Given the description of an element on the screen output the (x, y) to click on. 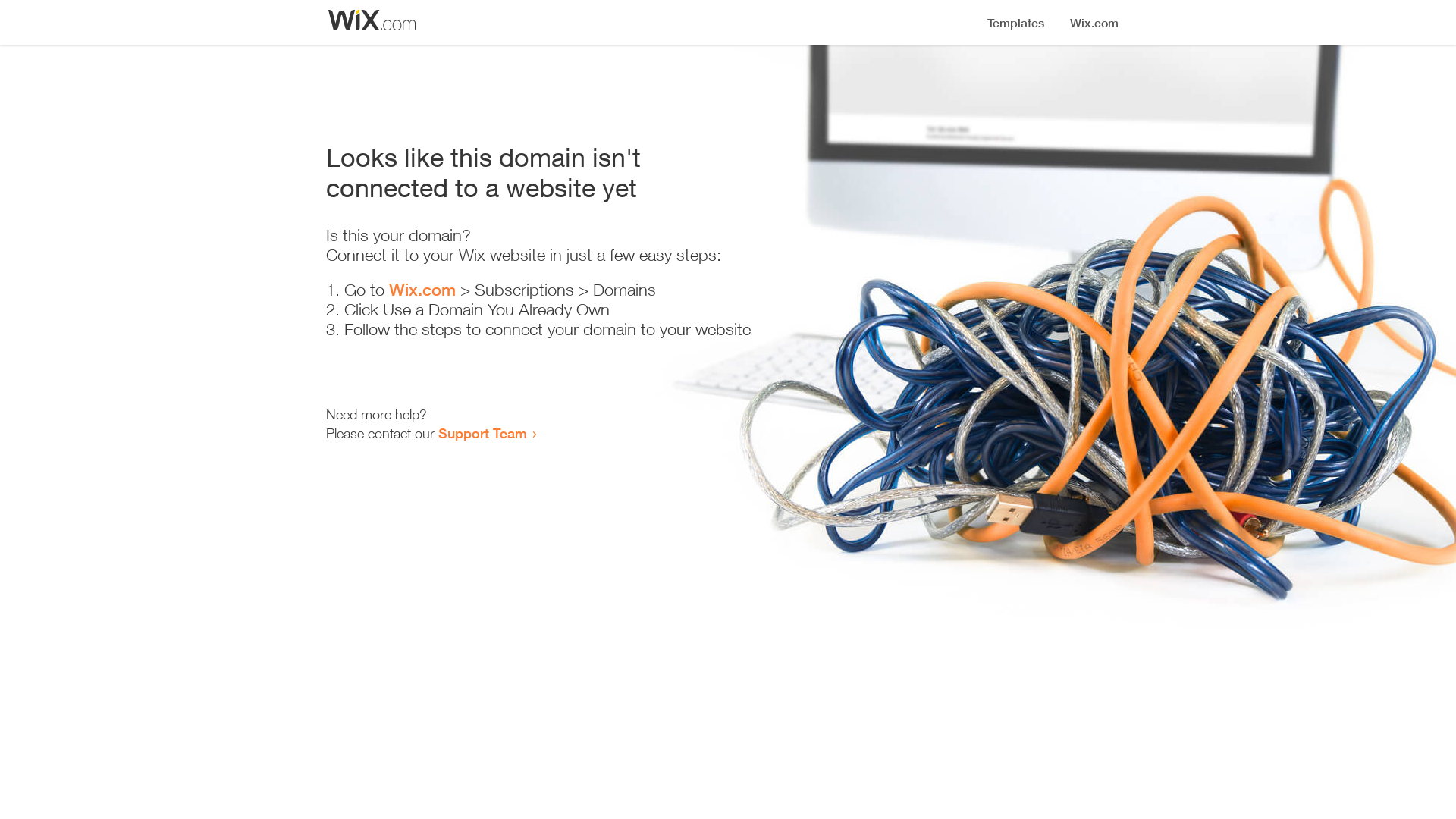
Support Team Element type: text (482, 432)
Wix.com Element type: text (422, 289)
